Given the description of an element on the screen output the (x, y) to click on. 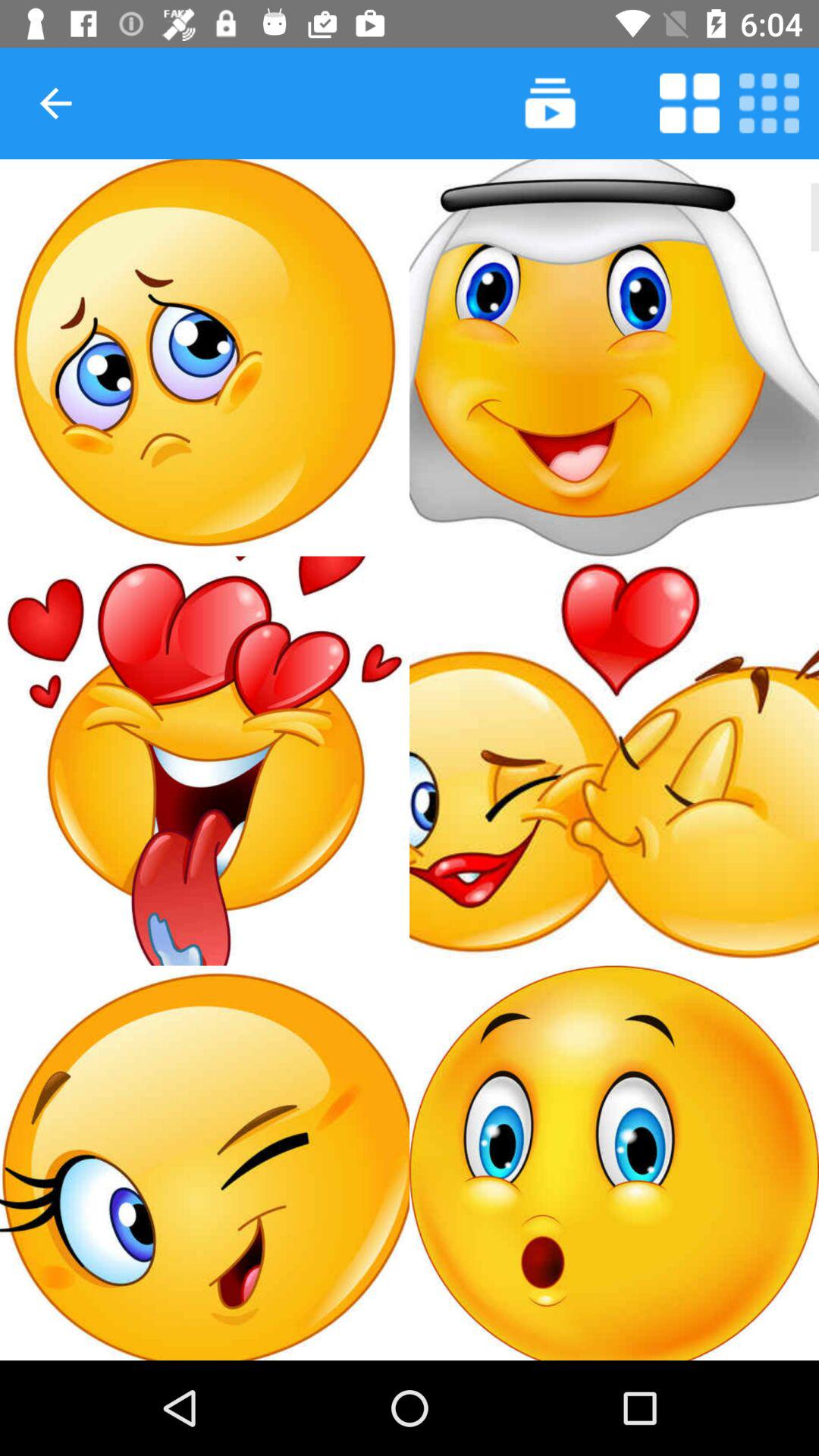
select wink emoji (204, 1162)
